Given the description of an element on the screen output the (x, y) to click on. 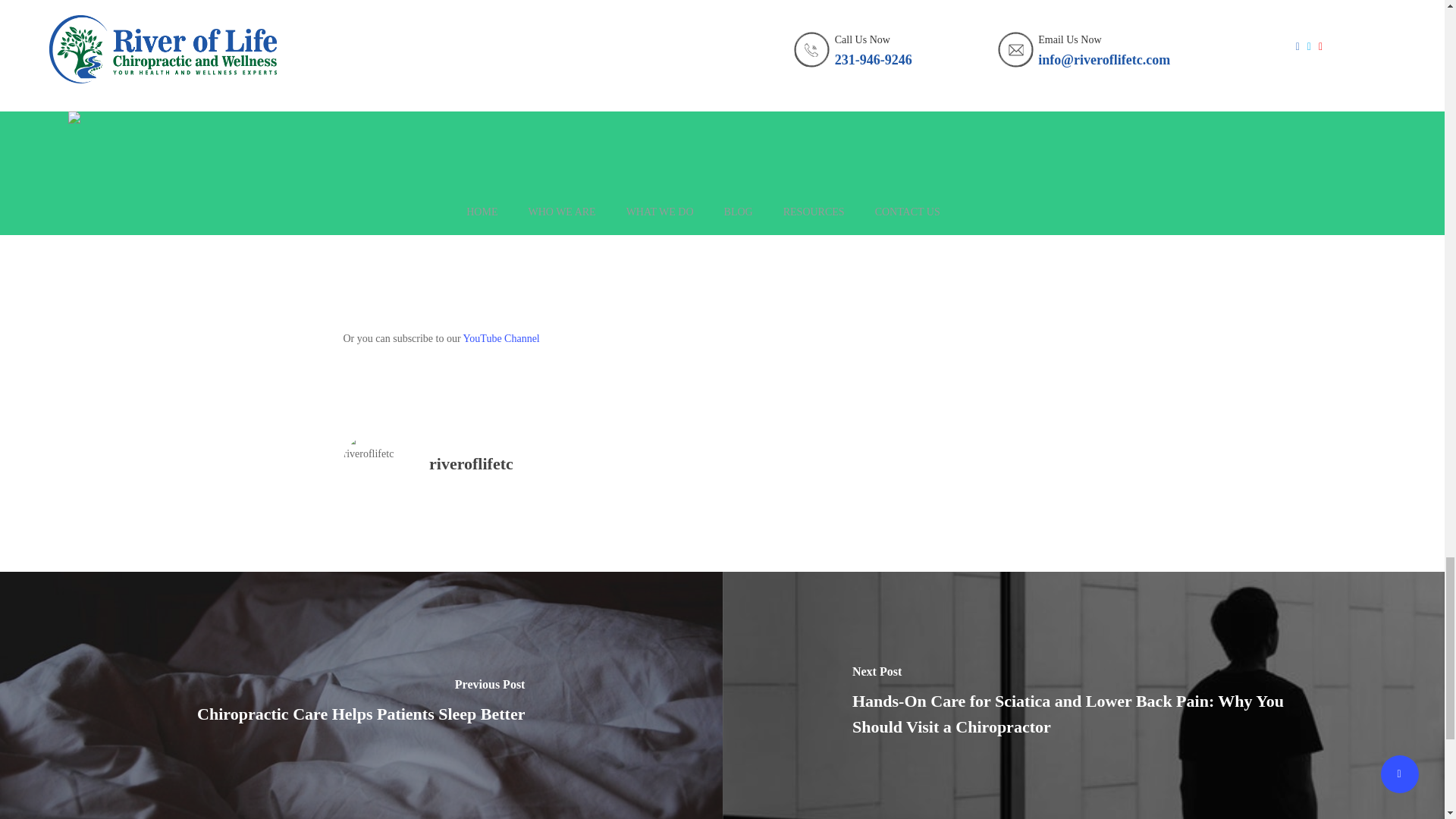
riveroflifetc (471, 463)
YouTube Channel (501, 337)
